Given the description of an element on the screen output the (x, y) to click on. 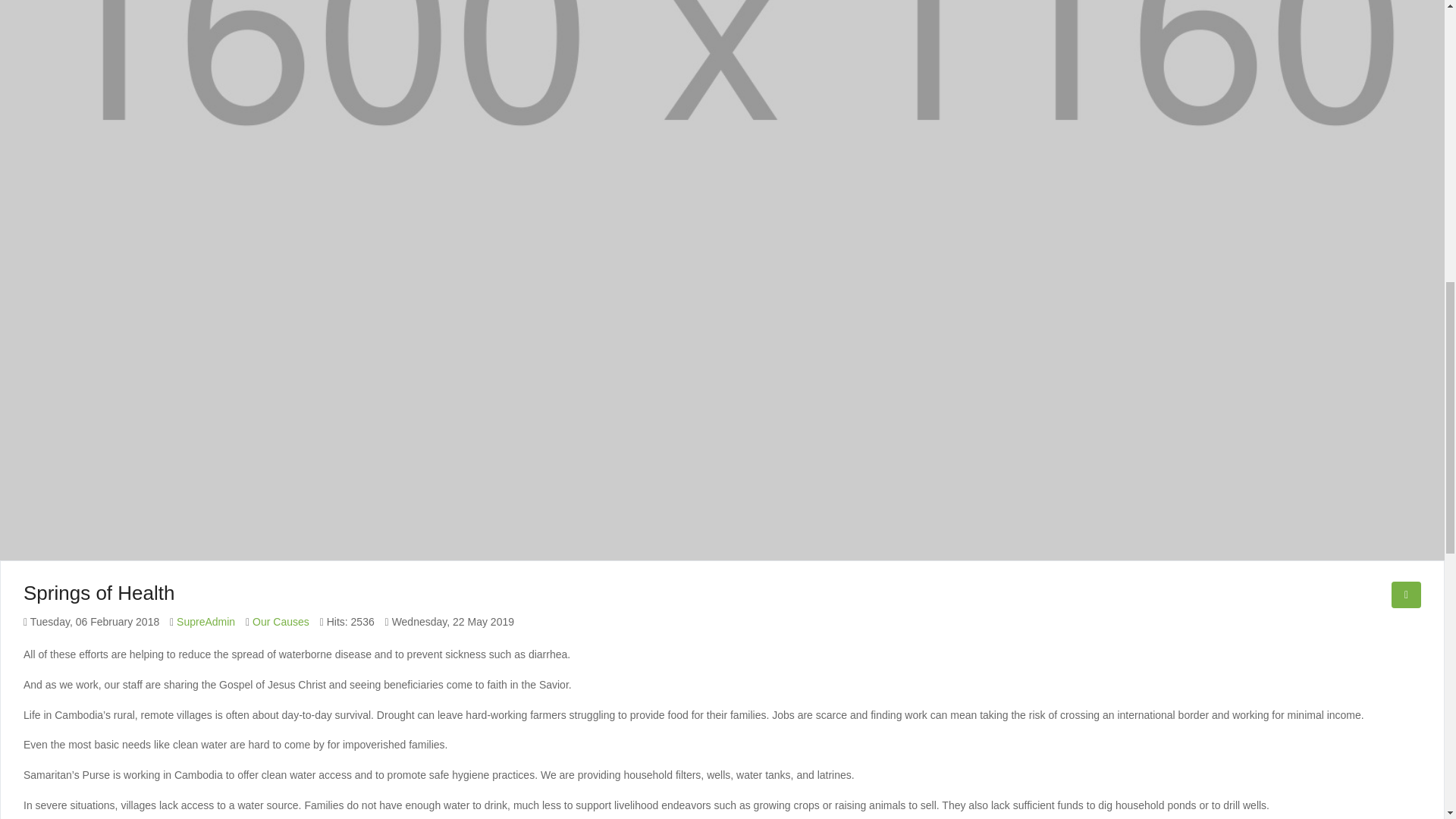
Modified Date (449, 622)
Publish Date (90, 622)
Our Causes (279, 621)
SupreAdmin (205, 621)
